Given the description of an element on the screen output the (x, y) to click on. 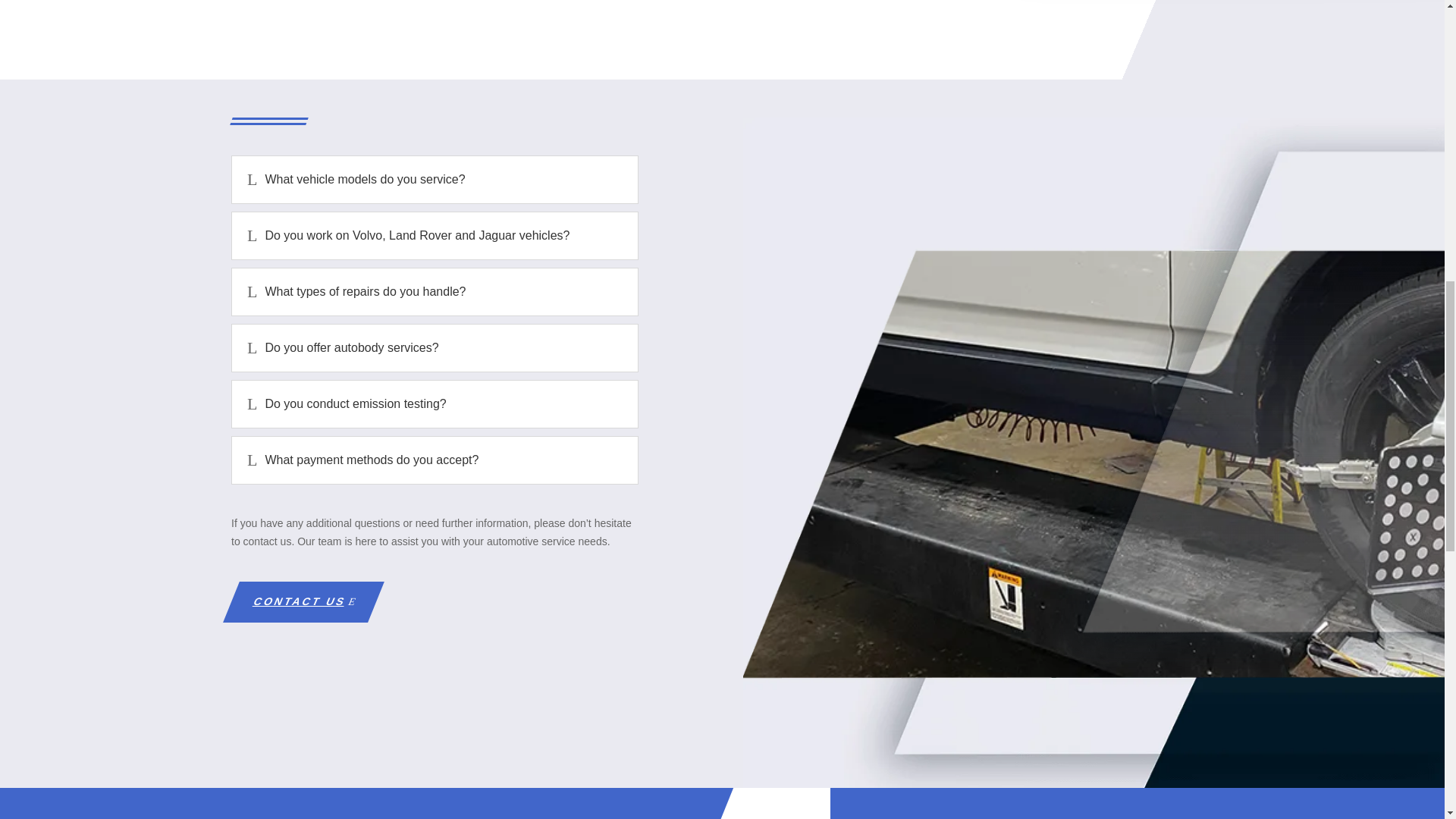
CONTACT US (295, 601)
